Given the description of an element on the screen output the (x, y) to click on. 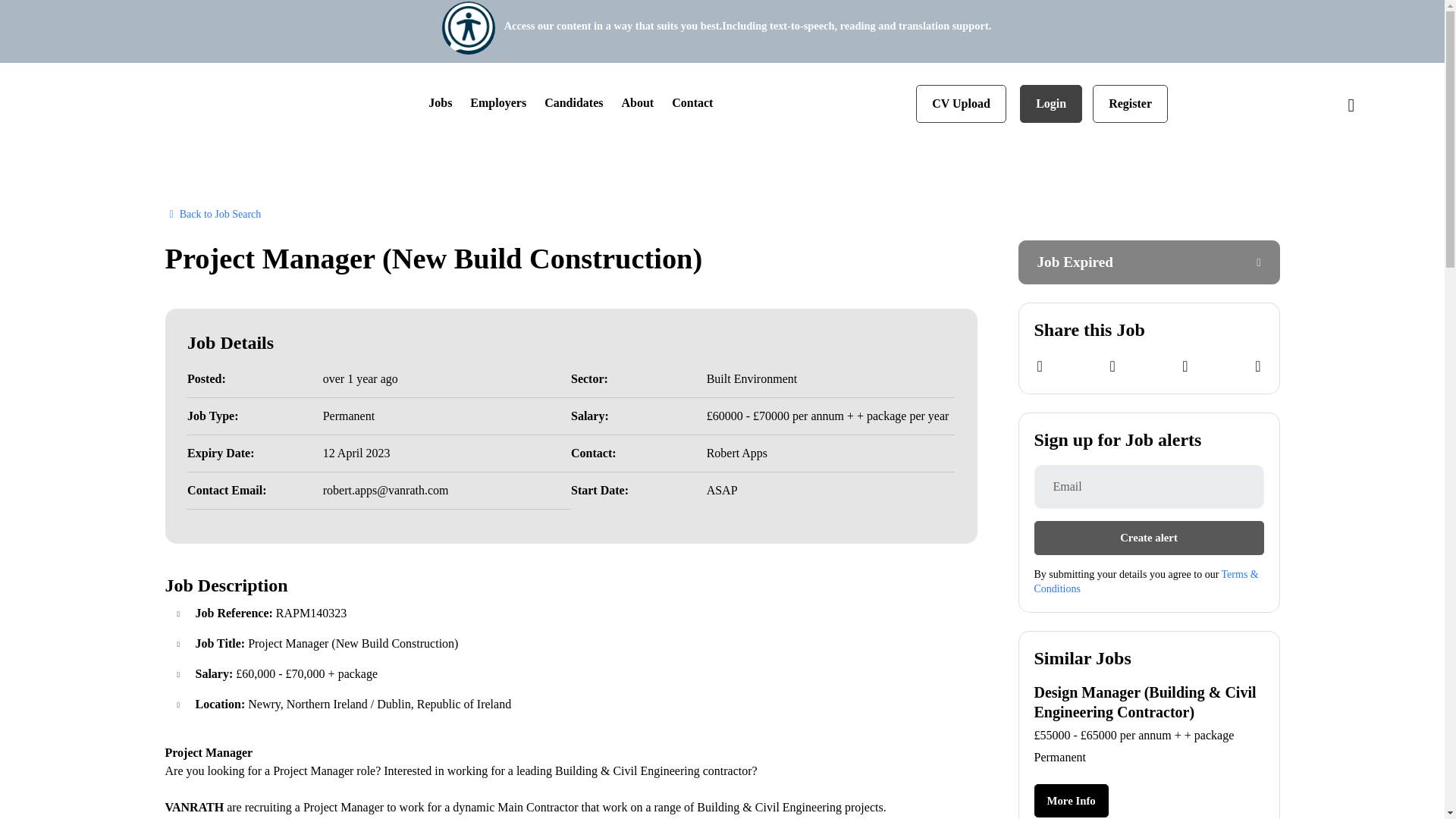
Candidates (573, 102)
WhatsApp (1185, 365)
LinkedIn (1112, 365)
Facebook (1039, 365)
Login (1050, 103)
Contact (692, 102)
Jobs (439, 102)
About (637, 102)
Email (1257, 365)
CV Upload (960, 103)
Employers (497, 102)
Register (1130, 103)
